Given the description of an element on the screen output the (x, y) to click on. 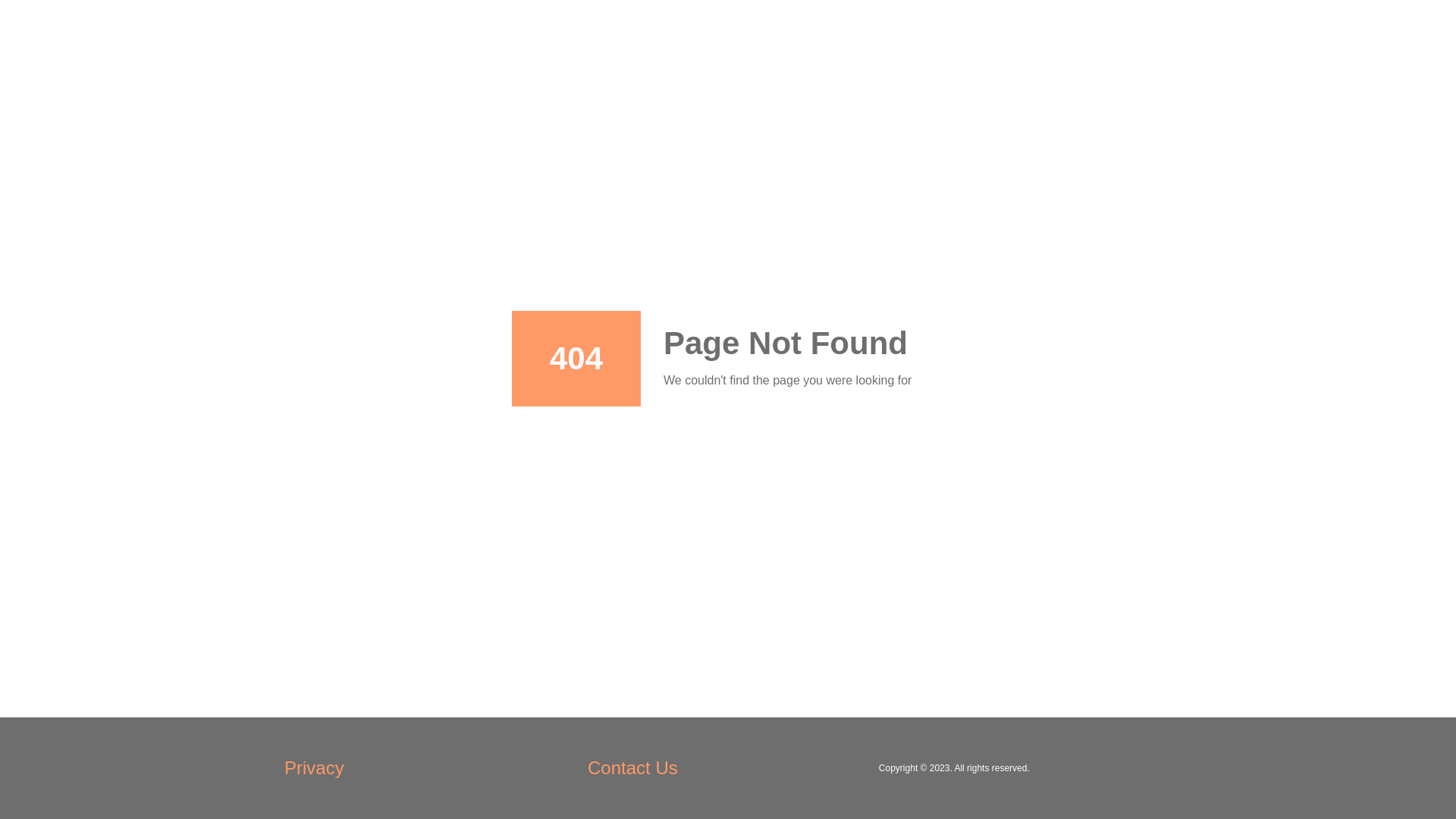
Contact Us Element type: text (632, 768)
Privacy Element type: text (314, 768)
